Given the description of an element on the screen output the (x, y) to click on. 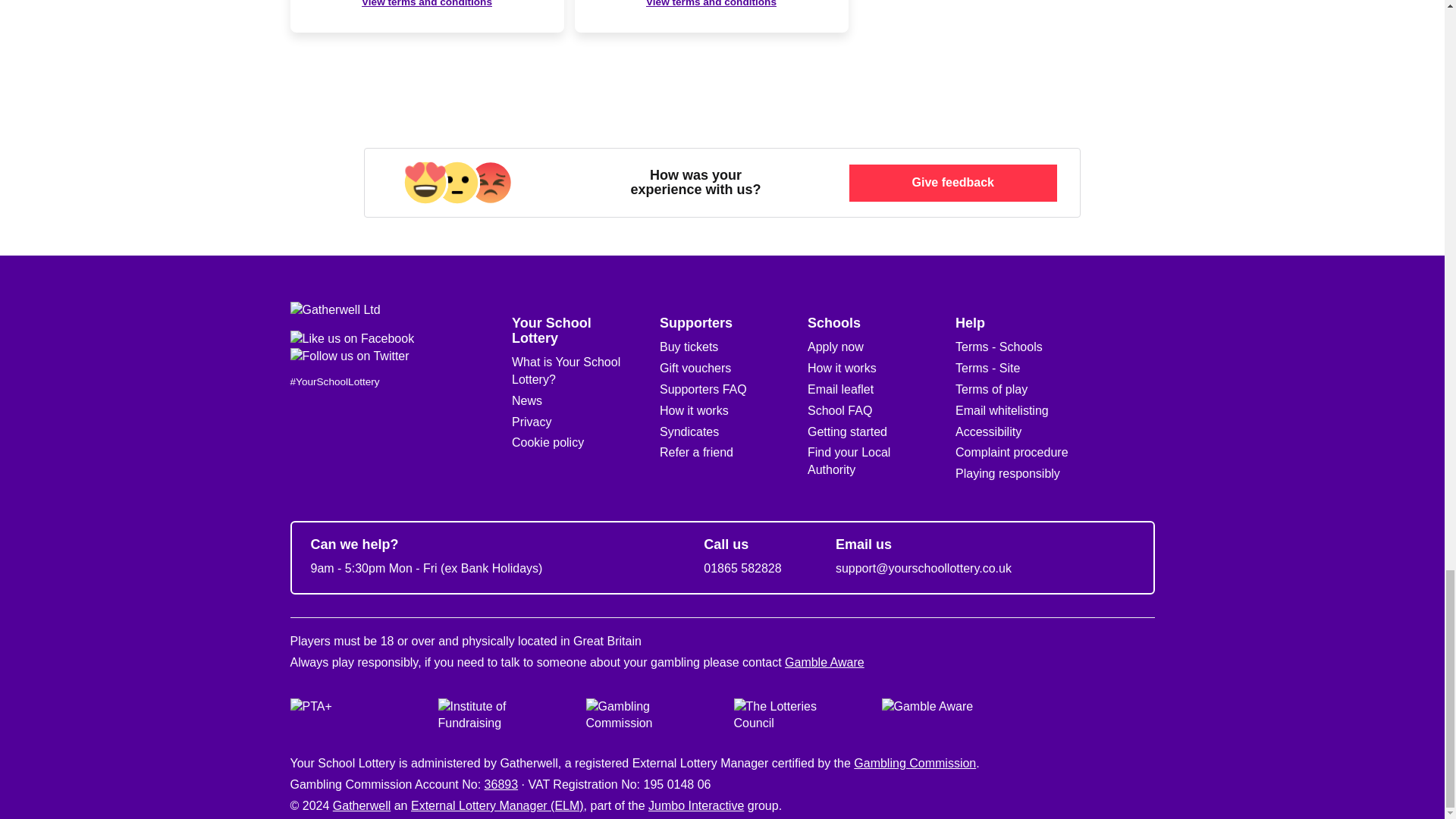
Schools - How it works (842, 367)
View terms and conditions (710, 4)
Supporters - How it works (694, 410)
View terms and conditions (426, 4)
